Given the description of an element on the screen output the (x, y) to click on. 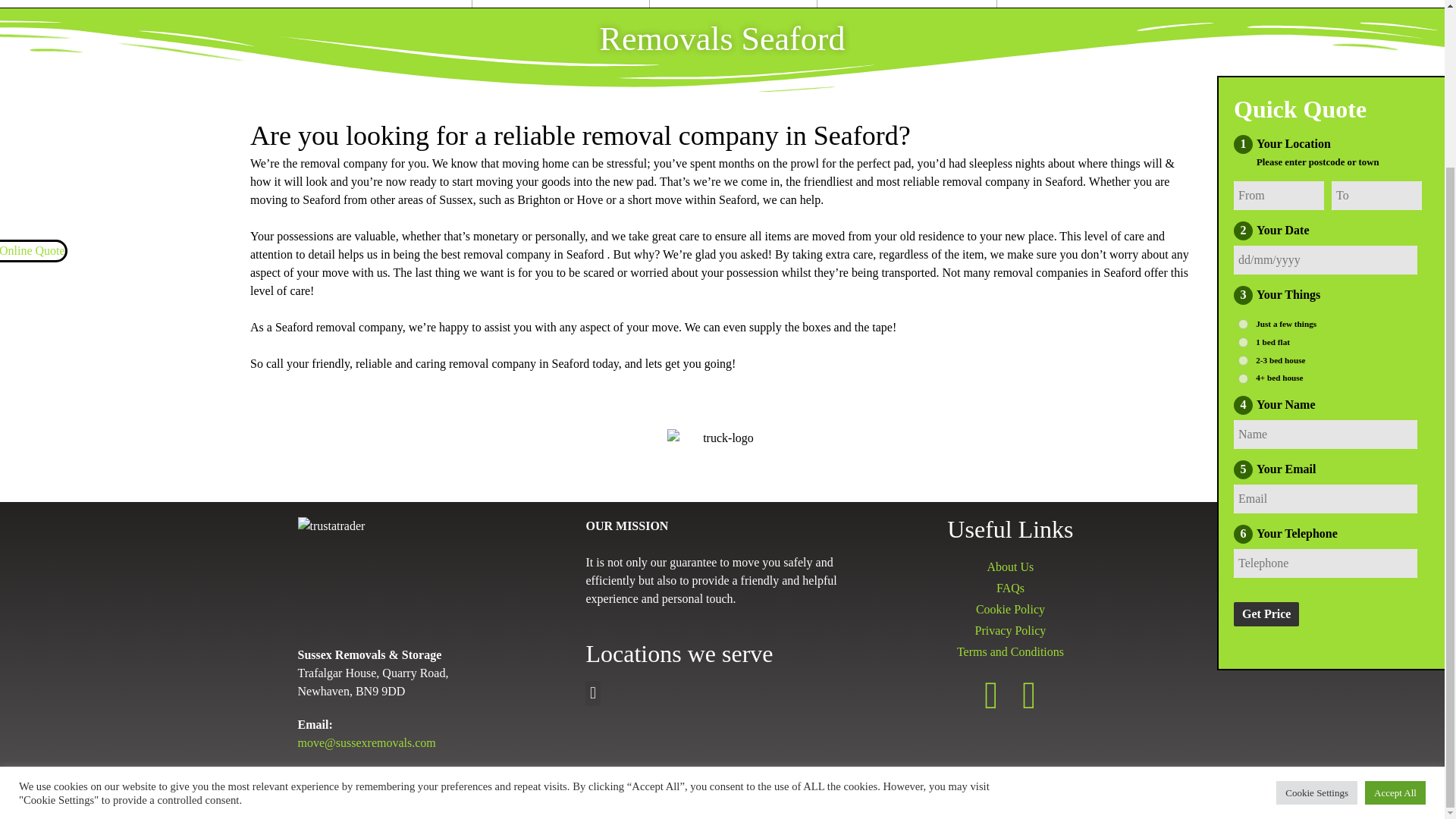
Just a few things (1243, 124)
1 bed flat (1243, 143)
2-3 bed house (1243, 161)
Get Price (1265, 414)
